Given the description of an element on the screen output the (x, y) to click on. 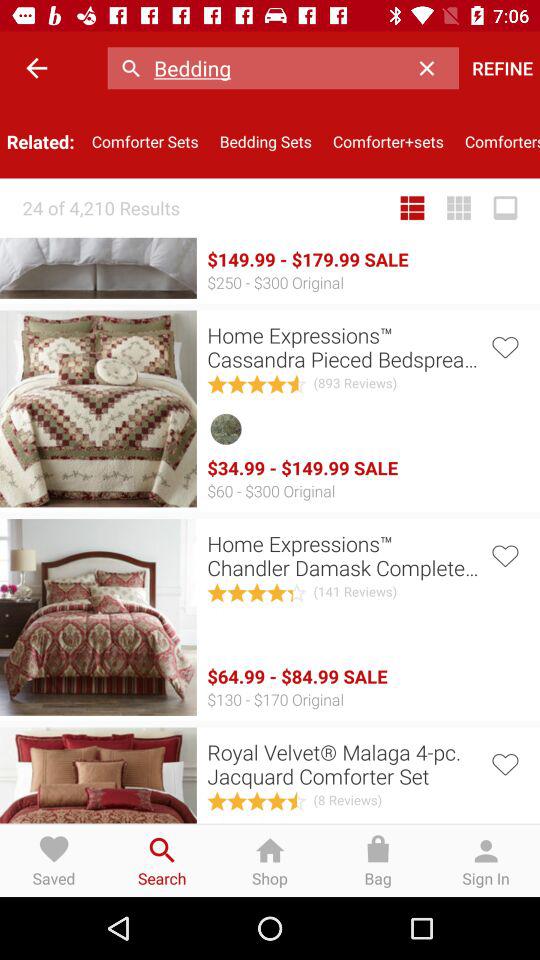
add to favorites (504, 553)
